Given the description of an element on the screen output the (x, y) to click on. 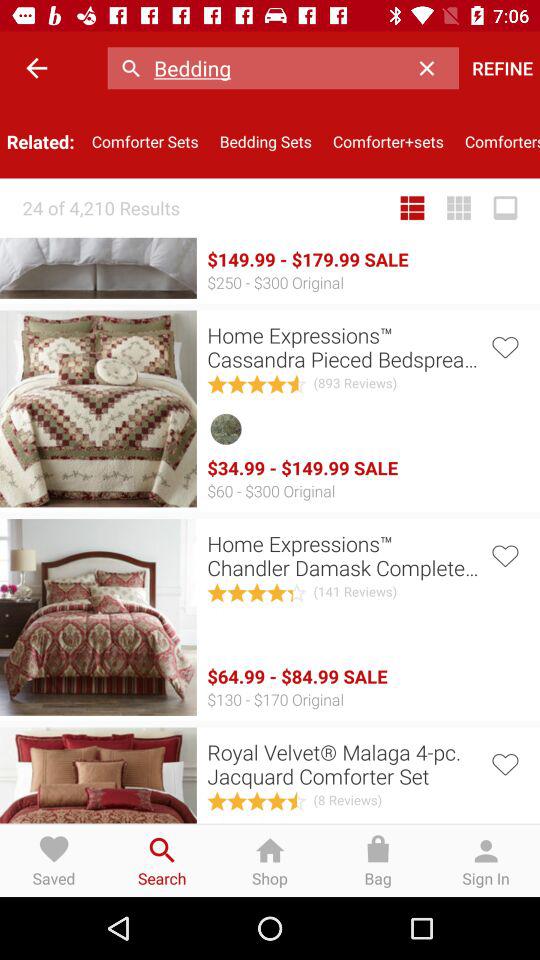
add to favorites (504, 553)
